Given the description of an element on the screen output the (x, y) to click on. 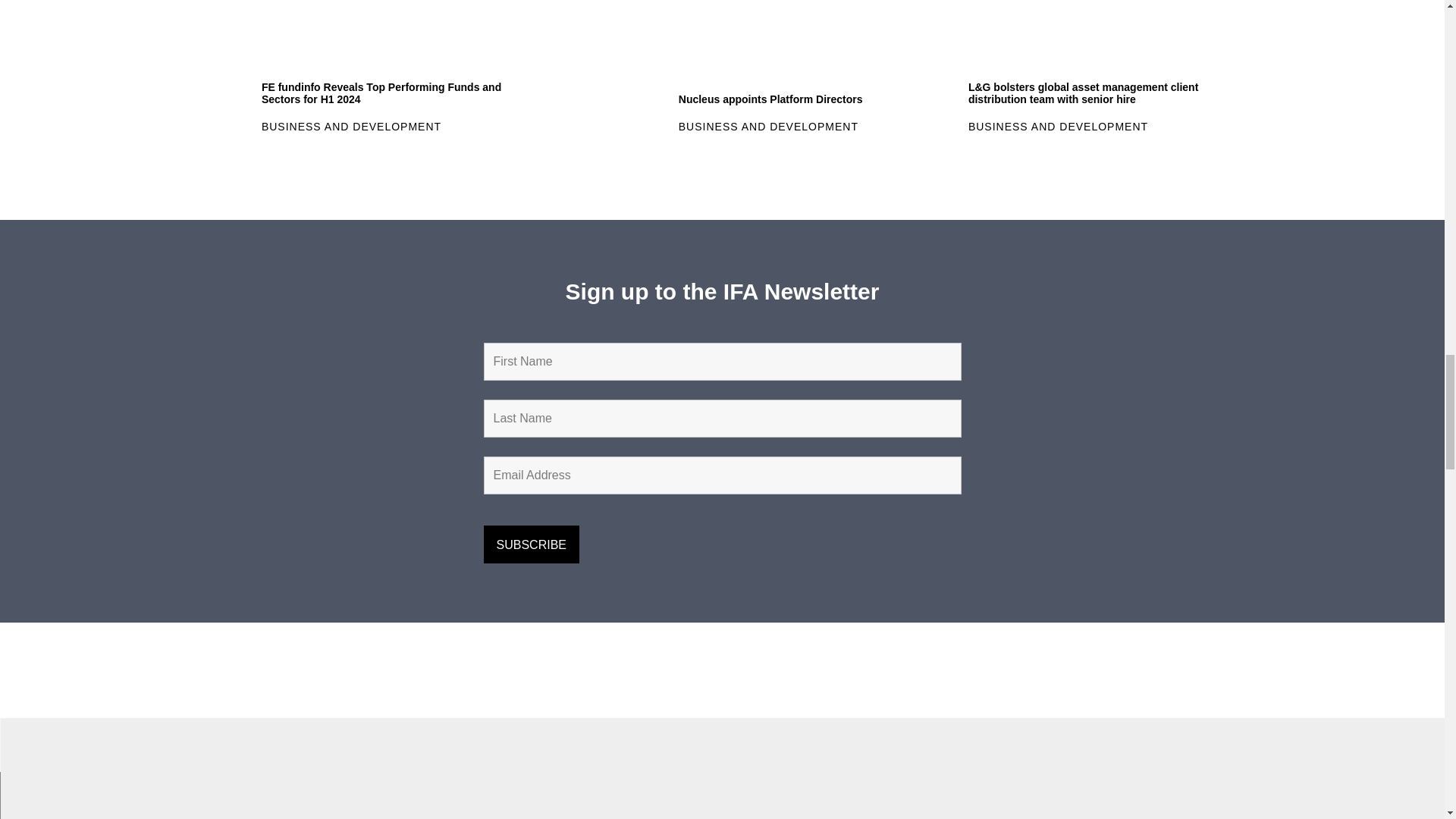
Subscribe (531, 544)
